Given the description of an element on the screen output the (x, y) to click on. 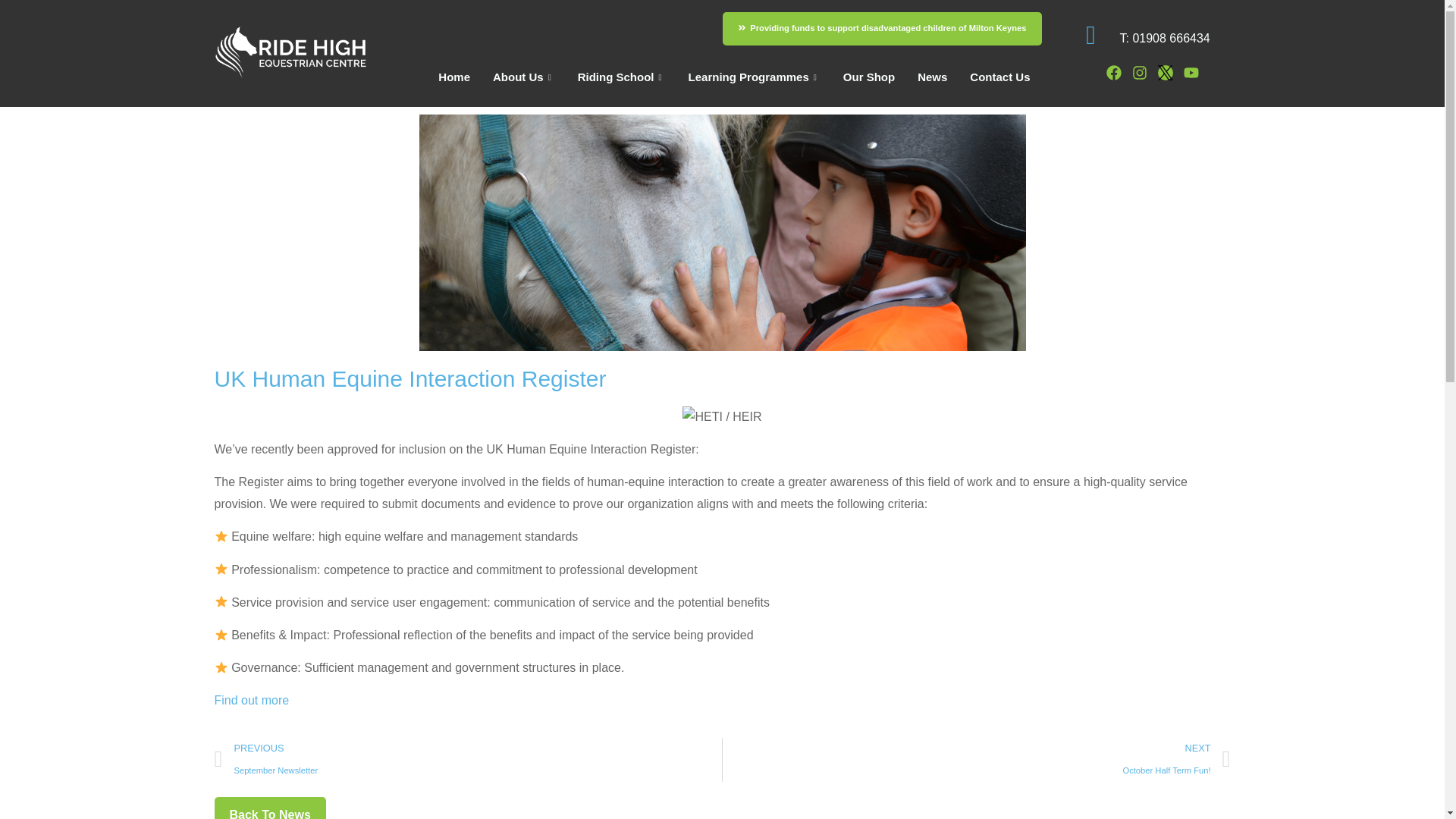
News (931, 77)
Contact Us (999, 77)
Learning Programmes (754, 77)
About Us (523, 77)
Home (453, 77)
Our Shop (868, 77)
Riding School (621, 77)
